Given the description of an element on the screen output the (x, y) to click on. 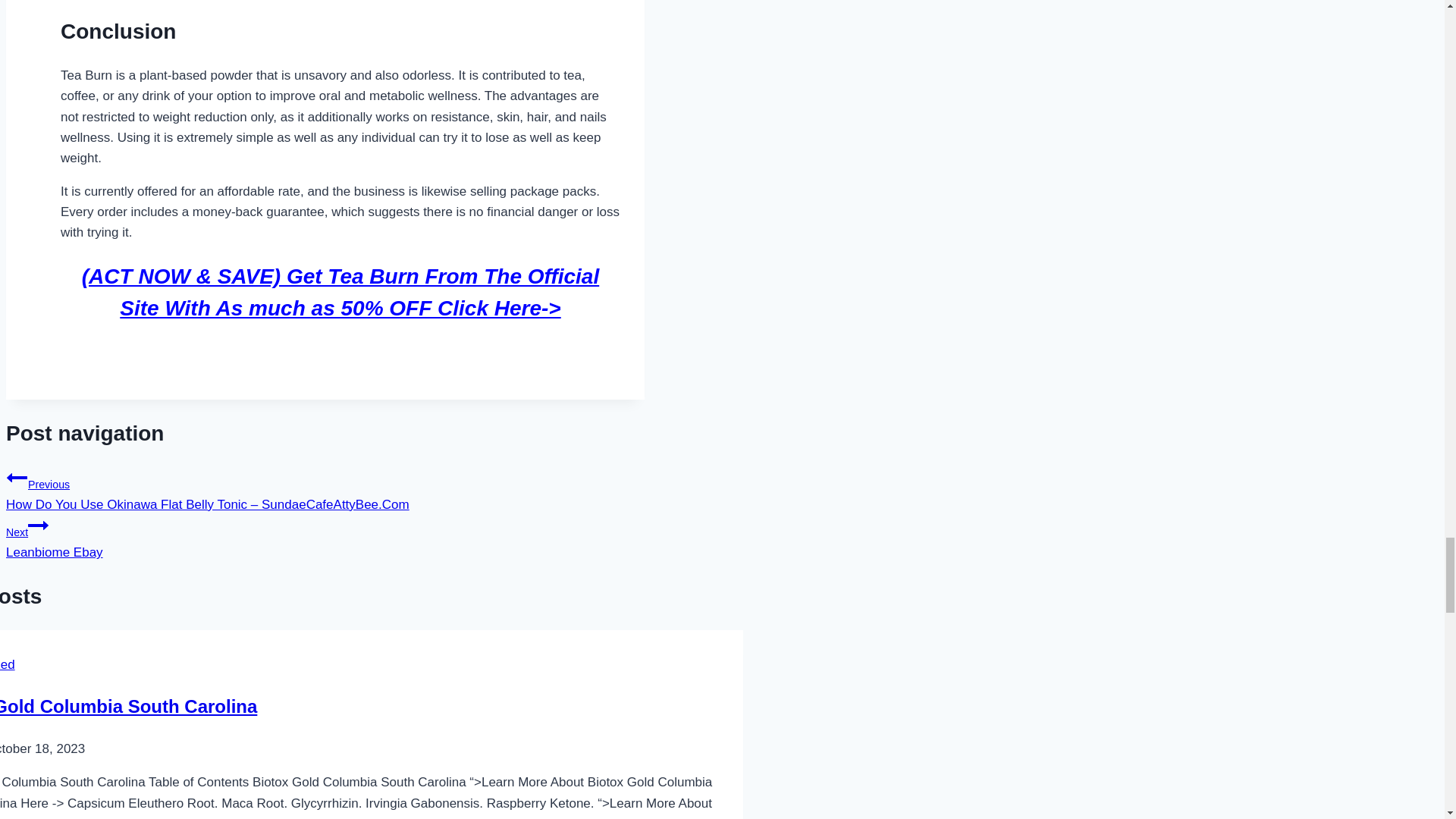
Continue (37, 525)
Previous (16, 477)
Biotox Gold Columbia South Carolina (128, 706)
Uncategorized (325, 537)
